Given the description of an element on the screen output the (x, y) to click on. 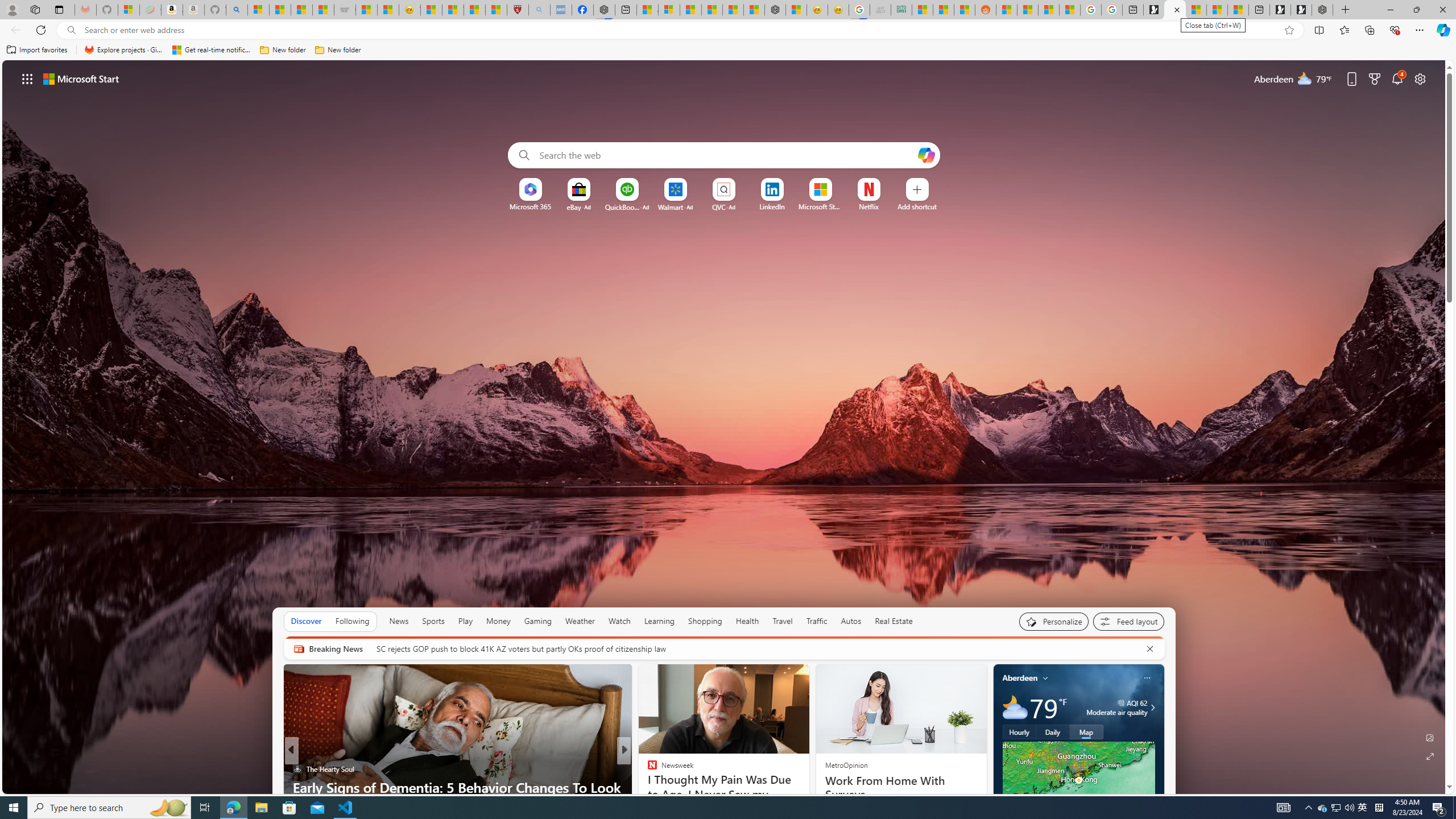
Daily (1052, 731)
These 3 Stocks Pay You More Than 5% to Own Them (1238, 9)
